Given the description of an element on the screen output the (x, y) to click on. 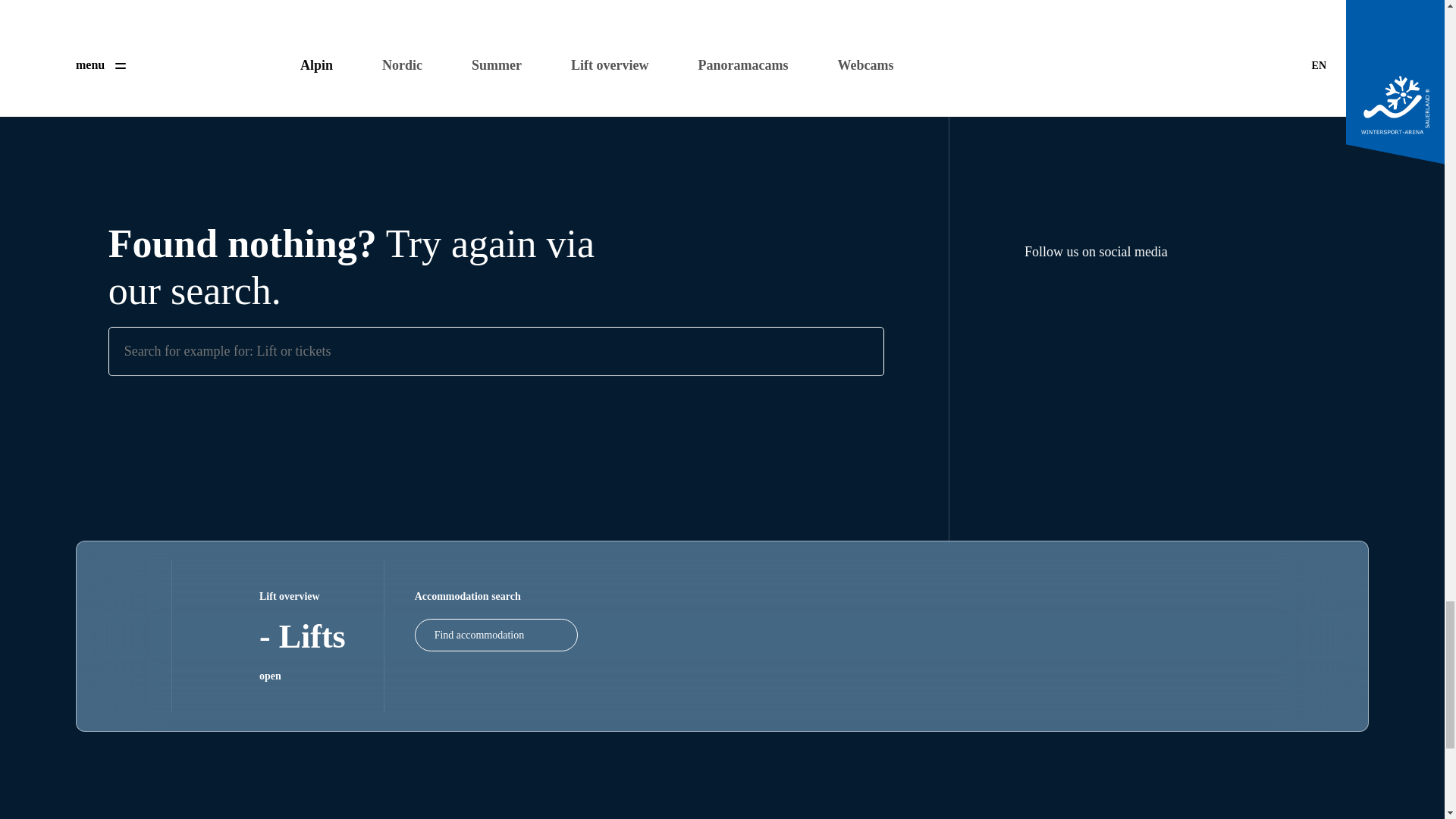
Follow us on Facebook (1038, 299)
Follow us on Instagram (1071, 299)
Follow us on Twitter (1106, 299)
